Given the description of an element on the screen output the (x, y) to click on. 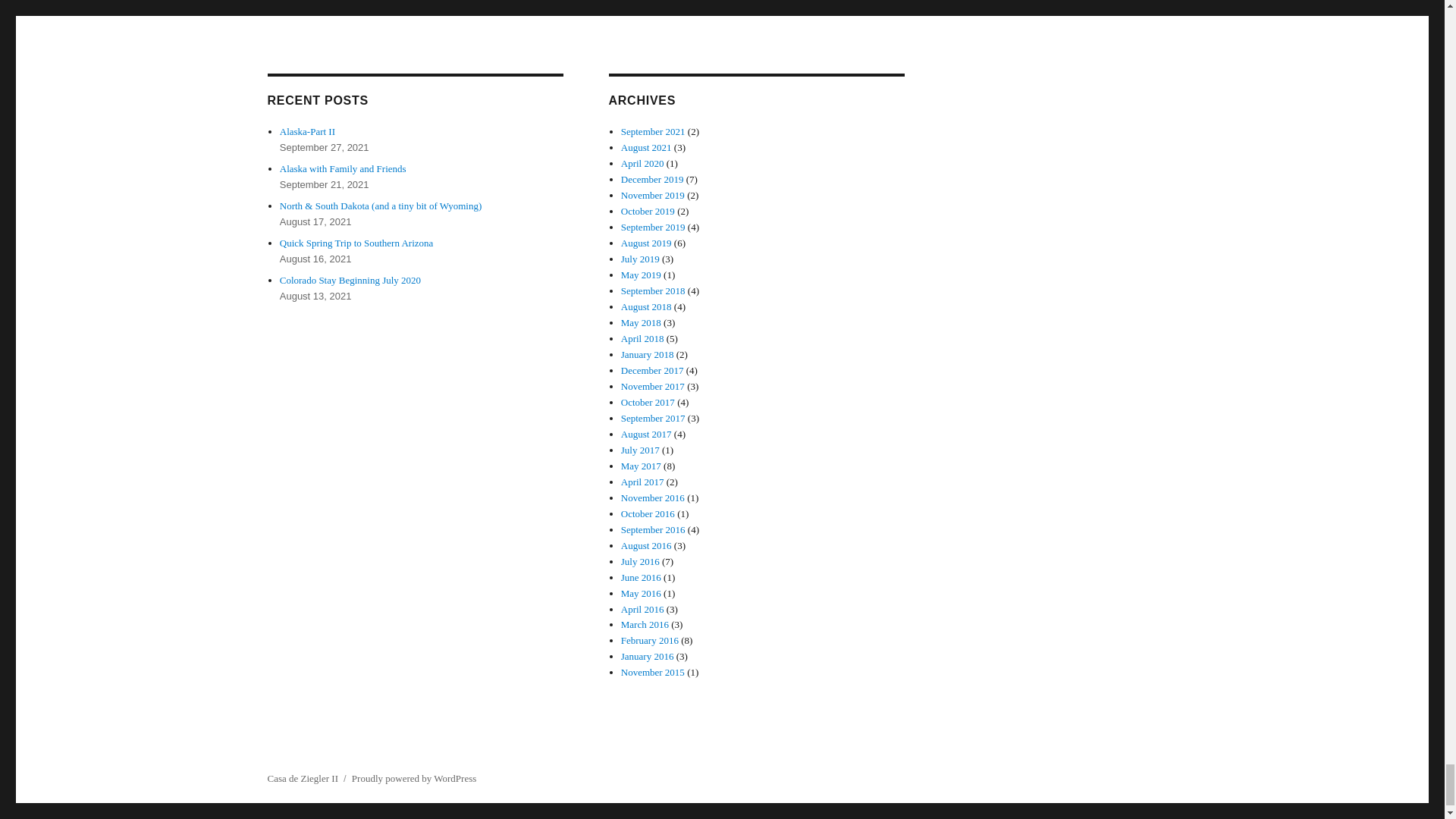
August 2021 (646, 147)
April 2018 (642, 337)
November 2016 (652, 497)
December 2019 (652, 179)
September 2016 (653, 529)
August 2017 (646, 433)
December 2017 (652, 369)
May 2018 (641, 322)
Alaska with Family and Friends (342, 168)
November 2019 (652, 194)
October 2017 (648, 401)
August 2016 (646, 545)
May 2019 (641, 274)
October 2019 (648, 211)
Quick Spring Trip to Southern Arizona (356, 242)
